Given the description of an element on the screen output the (x, y) to click on. 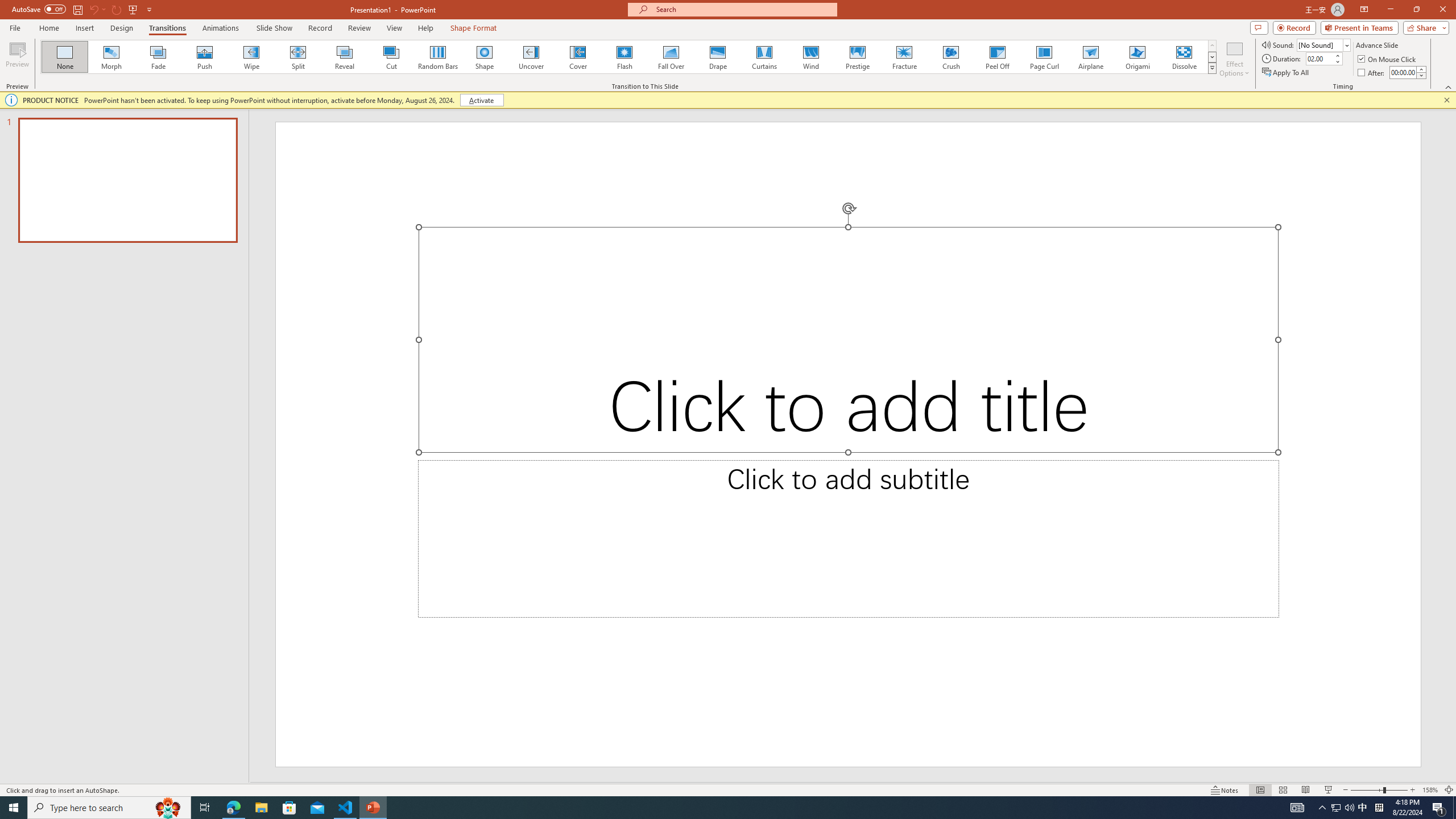
Preview (17, 58)
Apply To All (1286, 72)
Transition Effects (1212, 67)
Shape (484, 56)
